Given the description of an element on the screen output the (x, y) to click on. 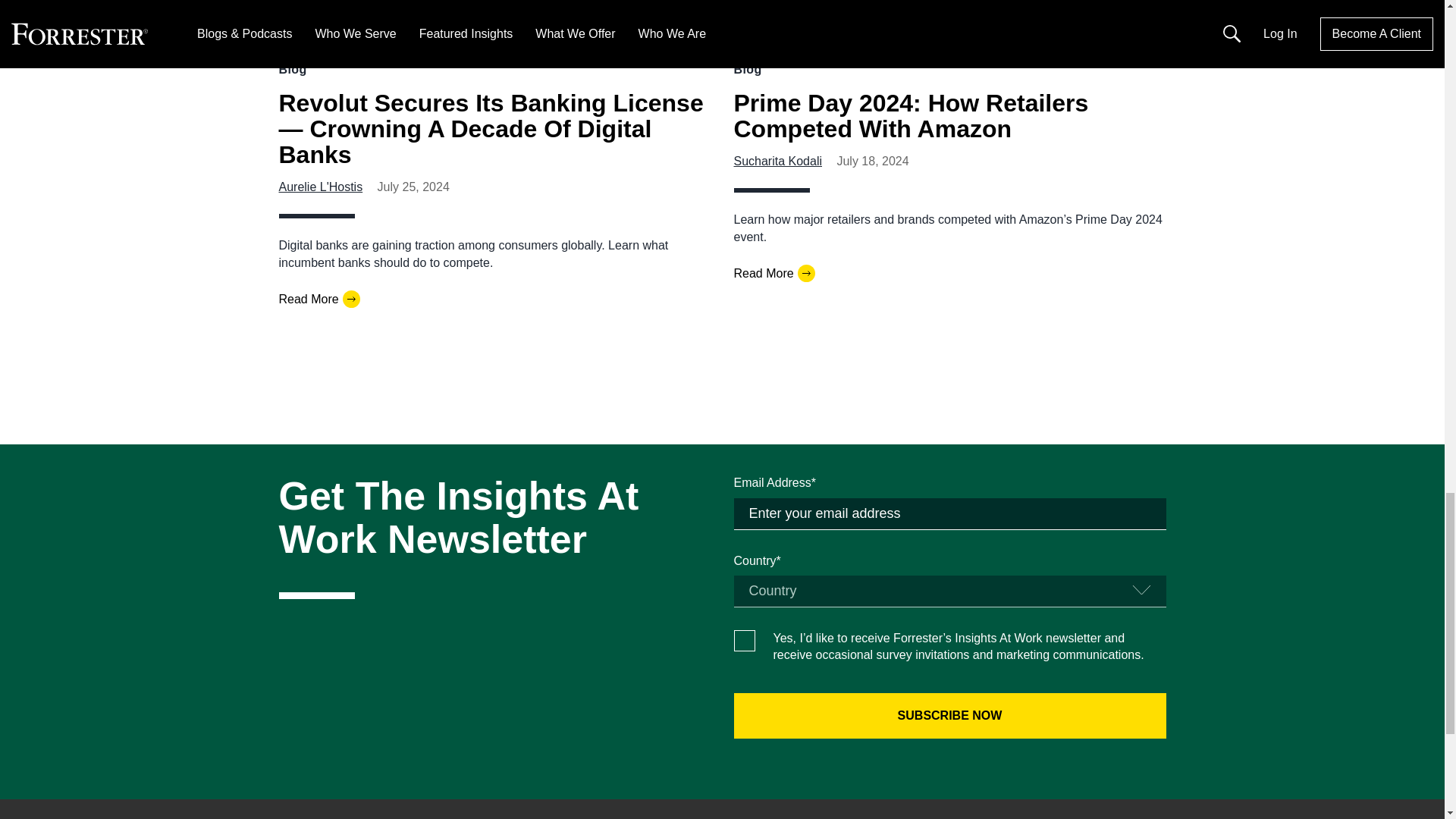
Aurelie L'Hostis (320, 186)
Subscribe Now (949, 715)
Sucharita Kodali (777, 160)
